Given the description of an element on the screen output the (x, y) to click on. 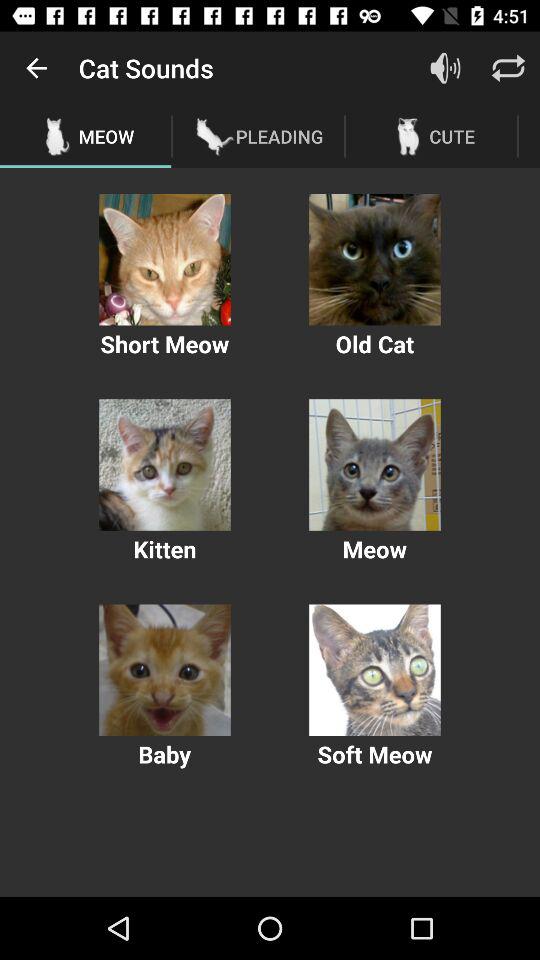
expand image (164, 464)
